Given the description of an element on the screen output the (x, y) to click on. 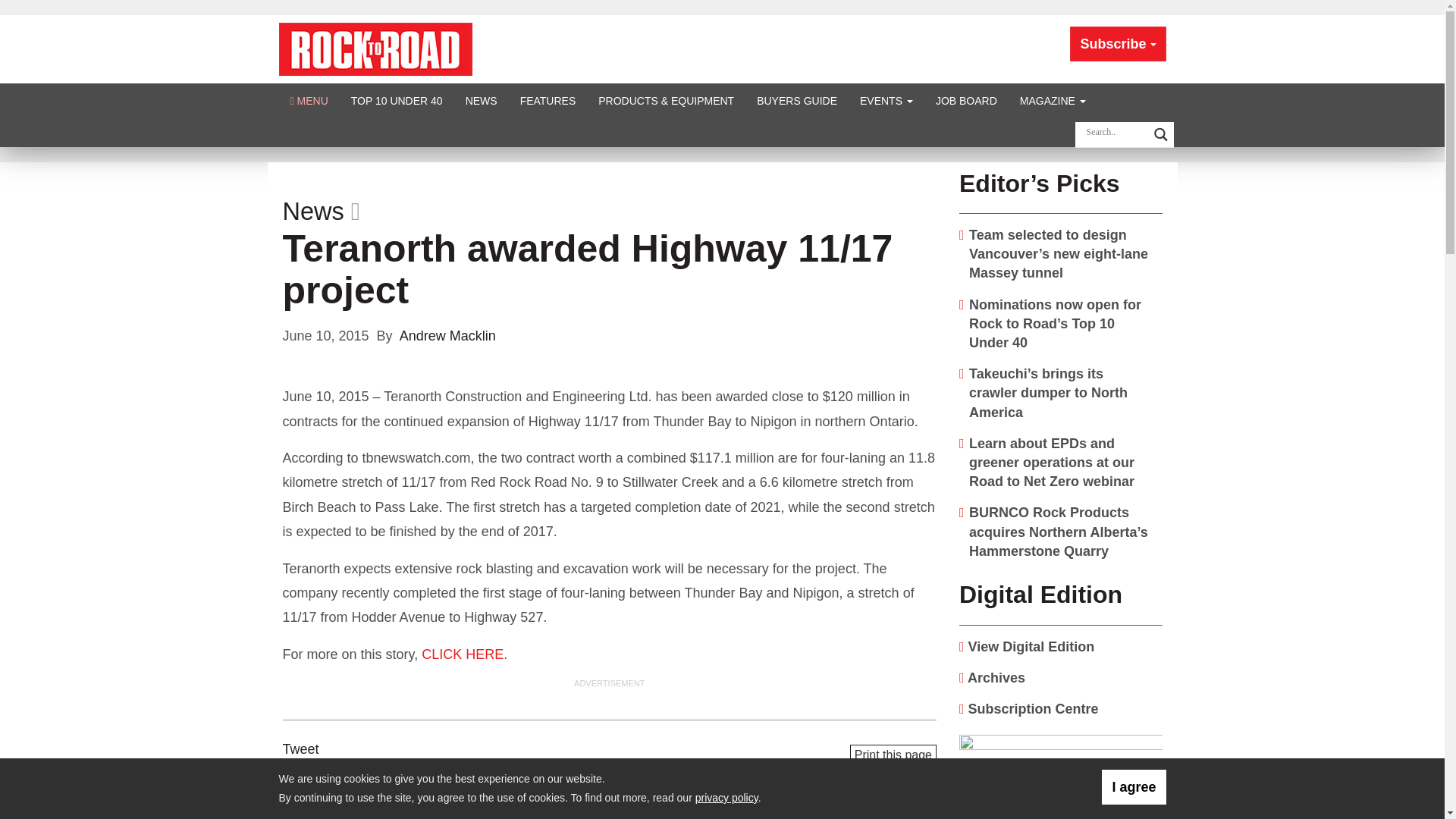
Rock to Road (375, 48)
MENU (309, 100)
EVENTS (886, 100)
Click to show site navigation (309, 100)
JOB BOARD (966, 100)
FEATURES (548, 100)
NEWS (481, 100)
Subscribe (1118, 43)
BUYERS GUIDE (796, 100)
TOP 10 UNDER 40 (396, 100)
